Given the description of an element on the screen output the (x, y) to click on. 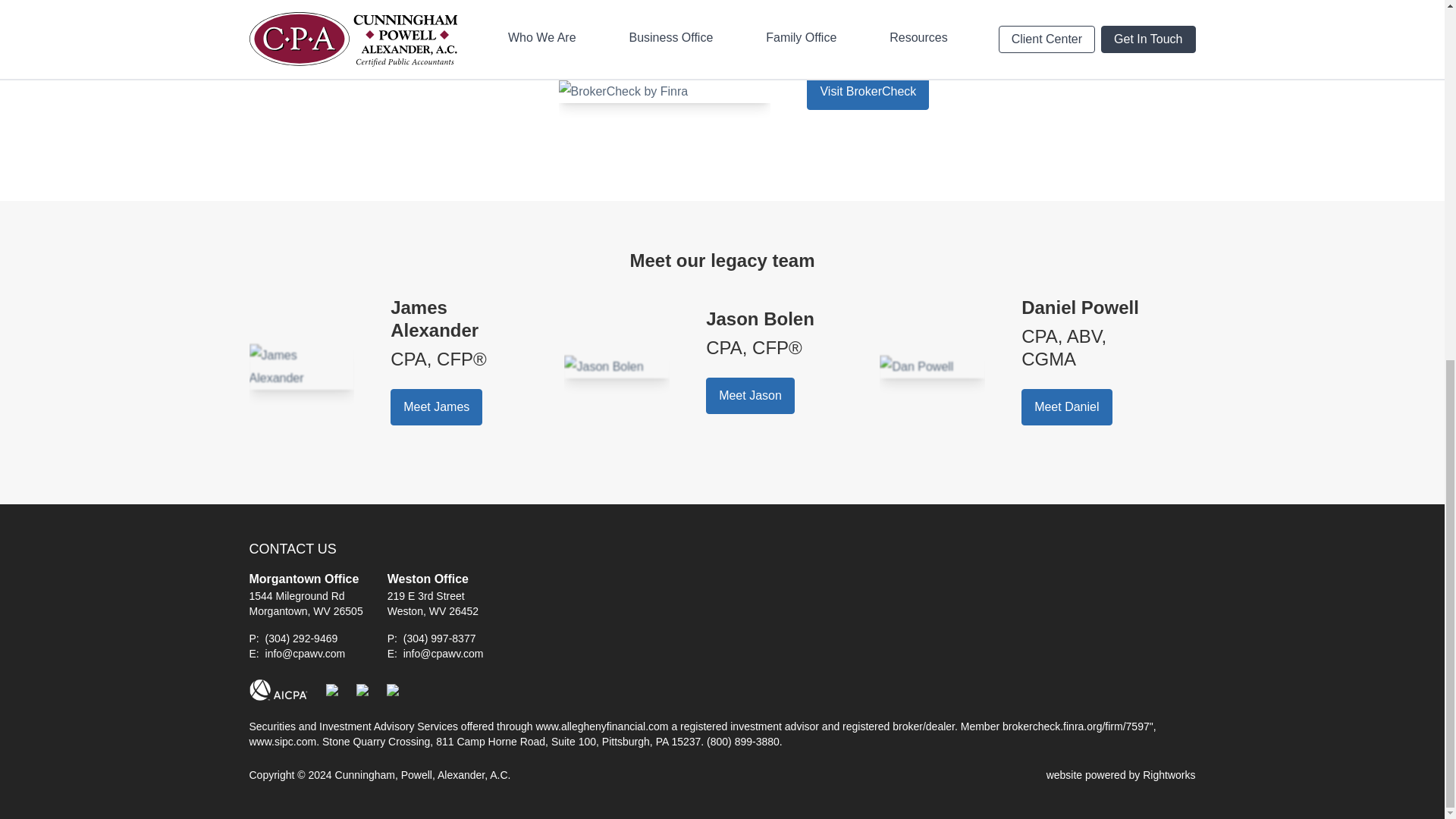
Learn more about American Institute of CPAs (277, 690)
Learn more about West Virginia Society of CPAs (392, 689)
Learn more about Accredited in Business Valuation (362, 689)
Learn more about CFP Board (331, 689)
